Given the description of an element on the screen output the (x, y) to click on. 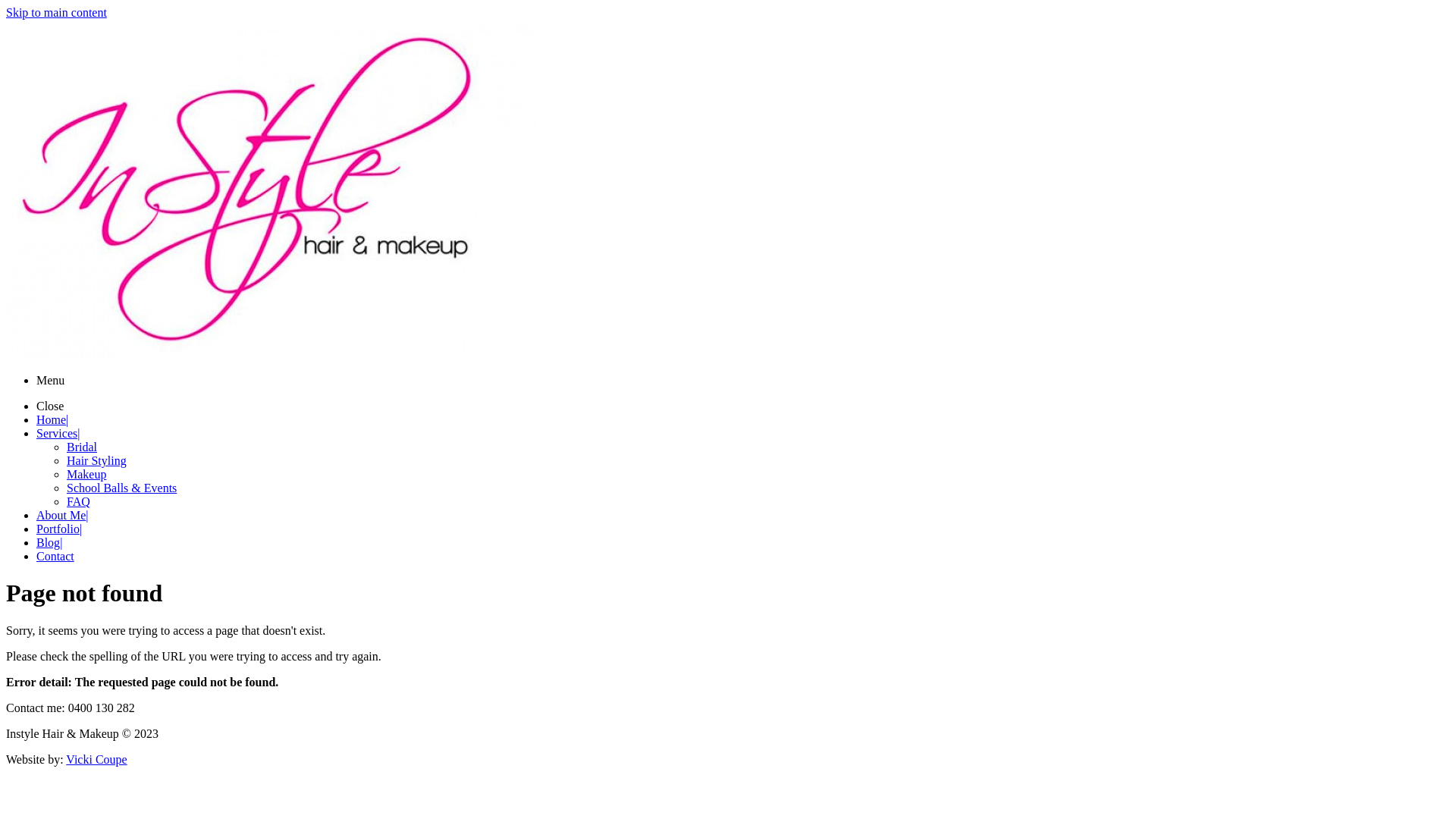
Services| Element type: text (57, 432)
Portfolio| Element type: text (58, 528)
Vicki Coupe Element type: text (95, 759)
Bridal Element type: text (81, 446)
Skip to main content Element type: text (56, 12)
Home| Element type: text (52, 419)
About Me| Element type: text (62, 514)
Hair Styling Element type: text (96, 460)
Makeup Element type: text (86, 473)
School Balls & Events Element type: text (121, 487)
Go to the home page Element type: hover (271, 354)
FAQ Element type: text (78, 501)
Contact Element type: text (55, 555)
Blog| Element type: text (49, 542)
